Given the description of an element on the screen output the (x, y) to click on. 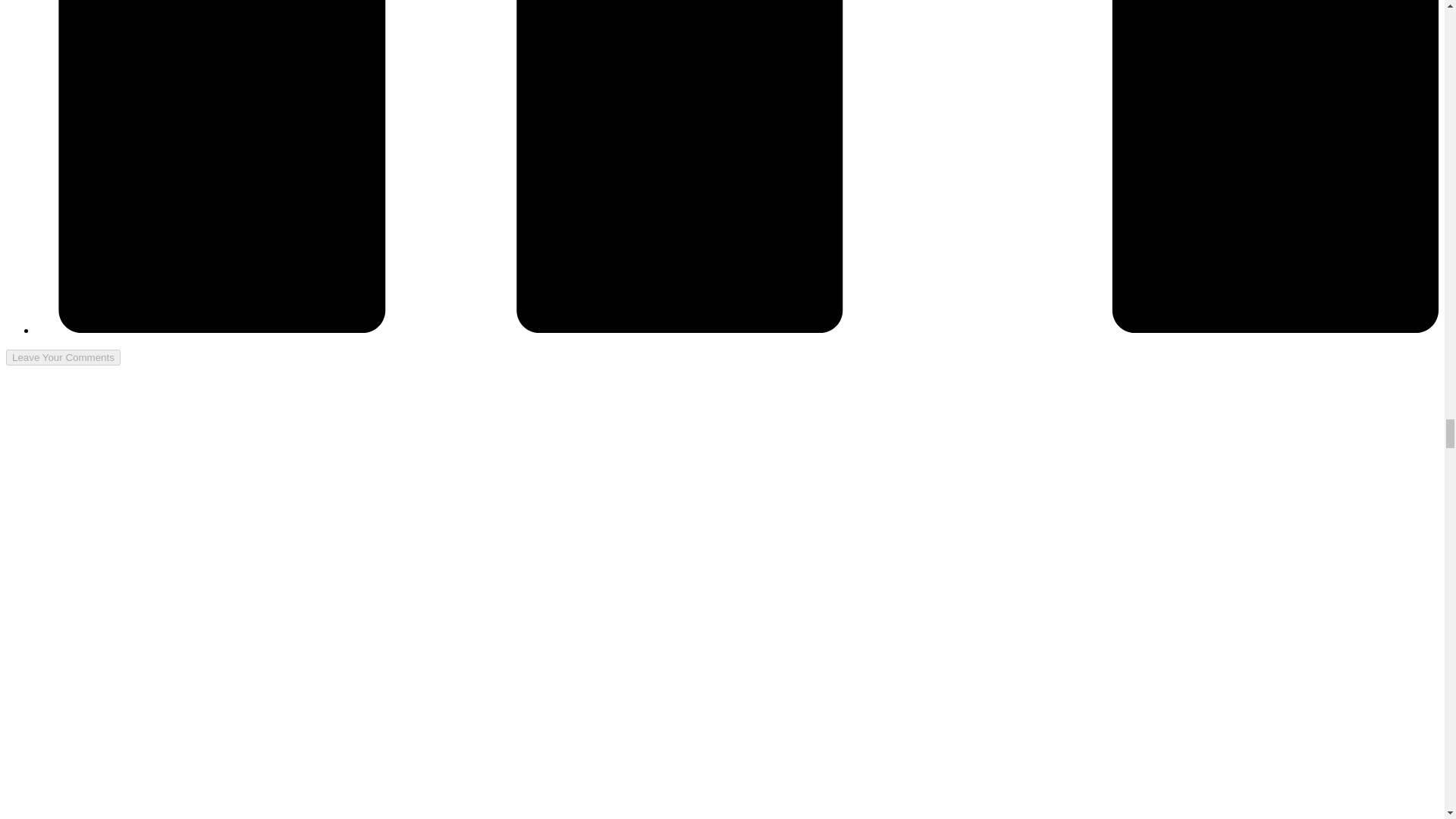
Leave Your Comments (62, 357)
